Given the description of an element on the screen output the (x, y) to click on. 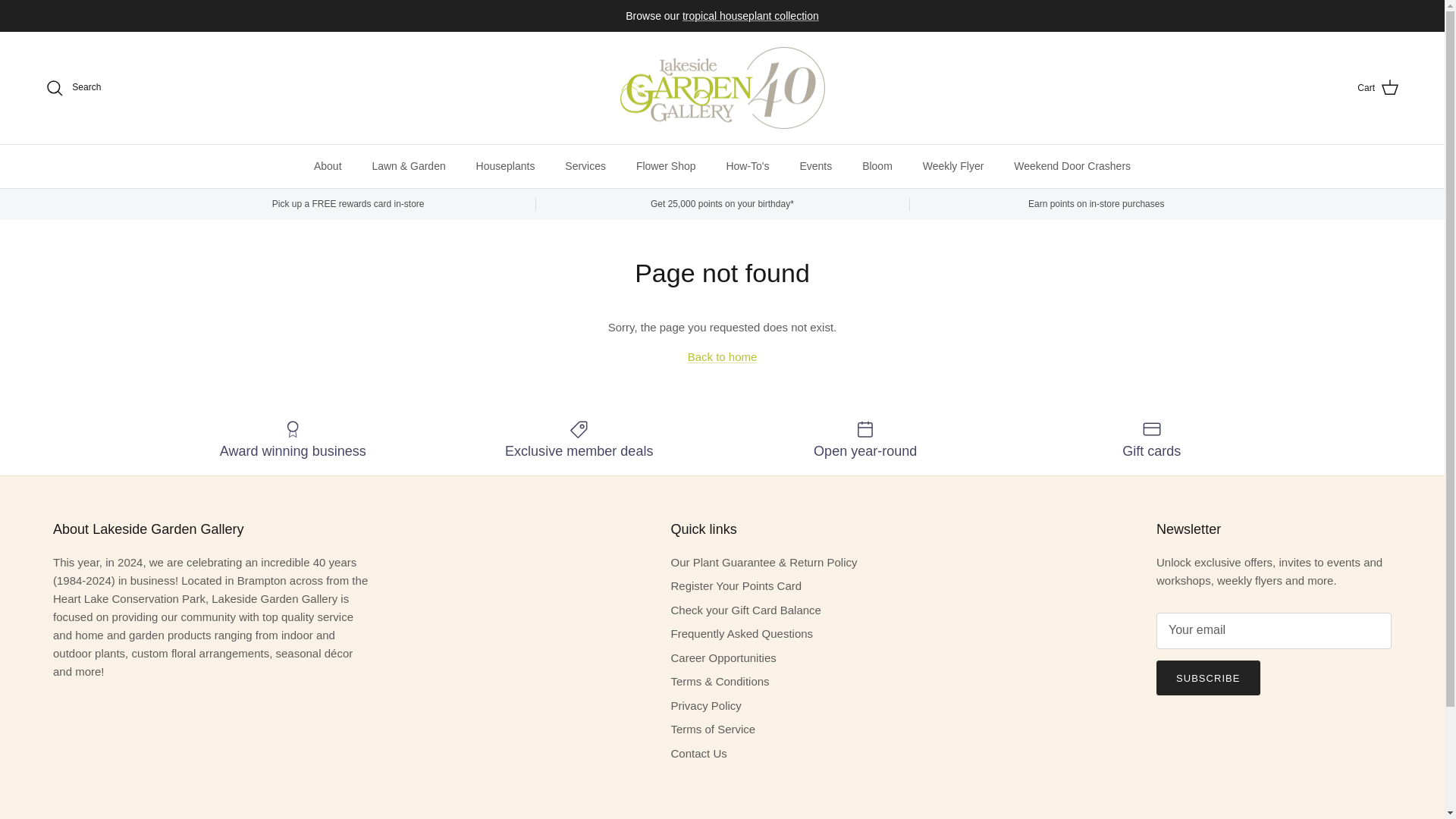
tropical houseplant collection (750, 15)
Lakeside Garden Gallery (722, 87)
Search (72, 87)
About (327, 166)
Cart (1377, 87)
